Given the description of an element on the screen output the (x, y) to click on. 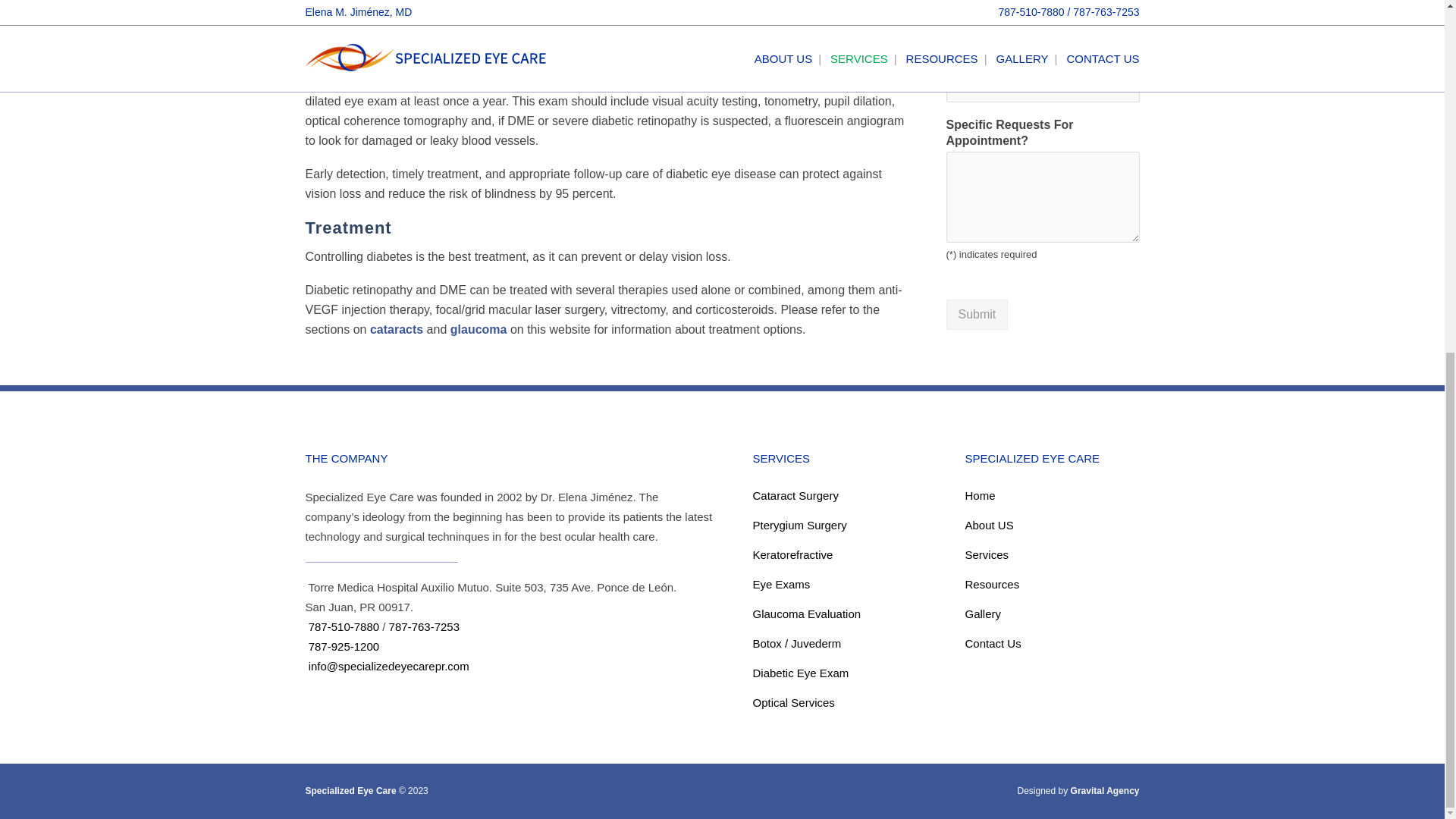
glaucoma (332, 18)
glaucoma (477, 328)
cataracts (700, 2)
787-510-7880 (343, 626)
cataracts (396, 328)
Submit (977, 314)
